Given the description of an element on the screen output the (x, y) to click on. 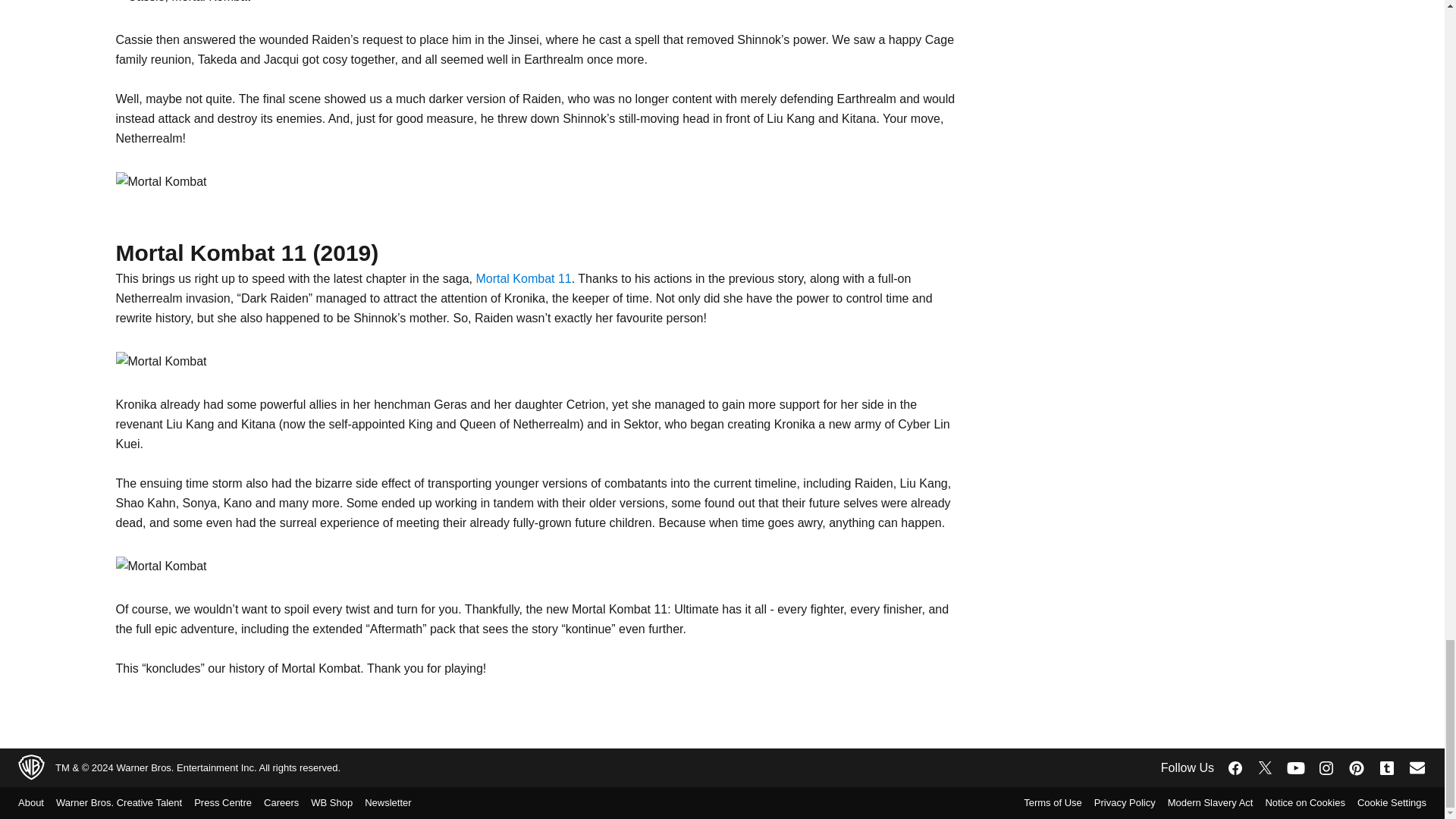
Modern Slavery Act (1204, 802)
WB Shop (338, 802)
Mortal Kombat (160, 181)
Mortal Kombat 11 (523, 278)
Press Centre (228, 802)
Warner Bros. Creative Talent (124, 802)
About (36, 802)
Privacy Policy (1118, 802)
Newsletter (394, 802)
Careers (287, 802)
